Given the description of an element on the screen output the (x, y) to click on. 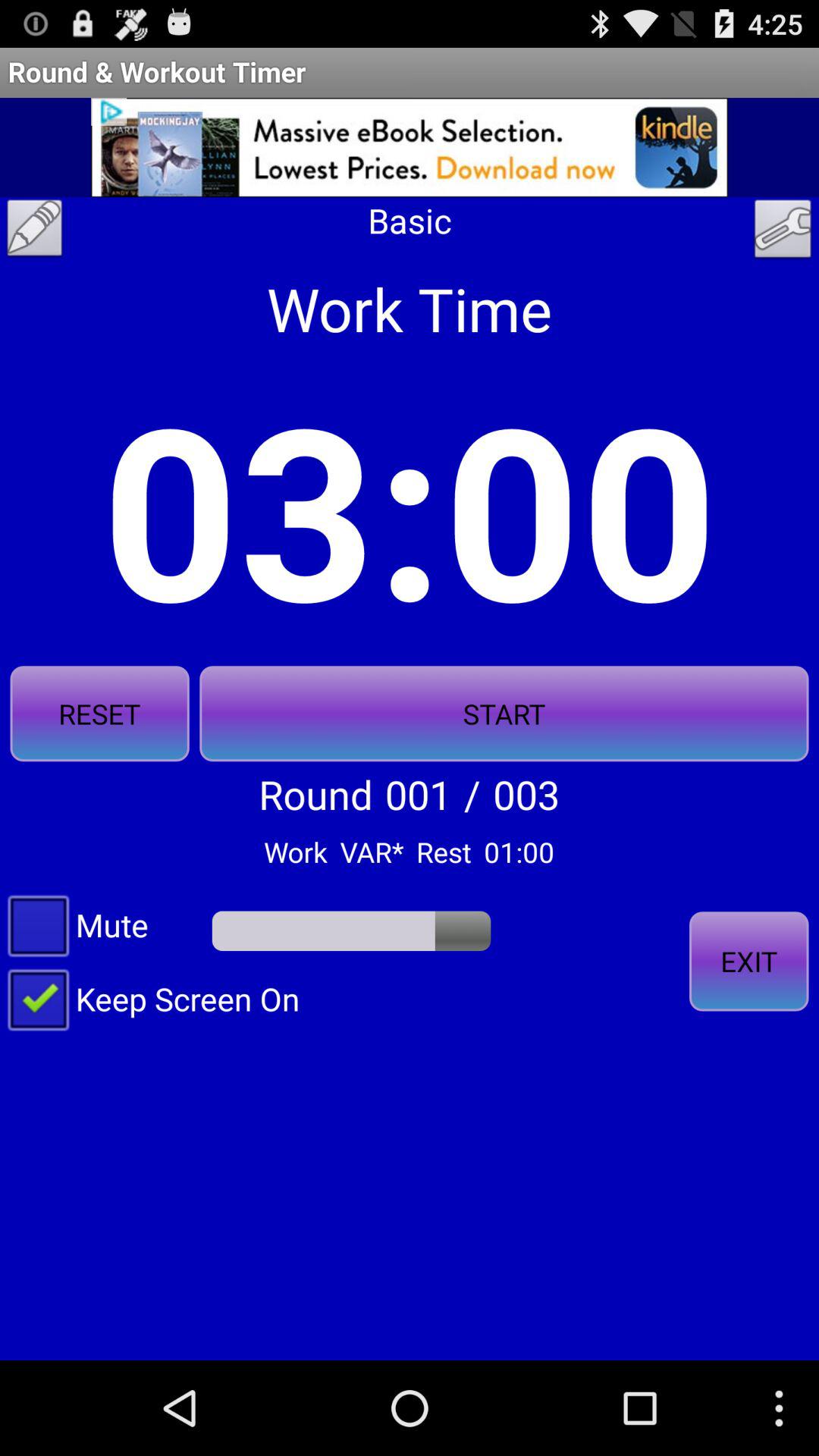
edit page (34, 232)
